Given the description of an element on the screen output the (x, y) to click on. 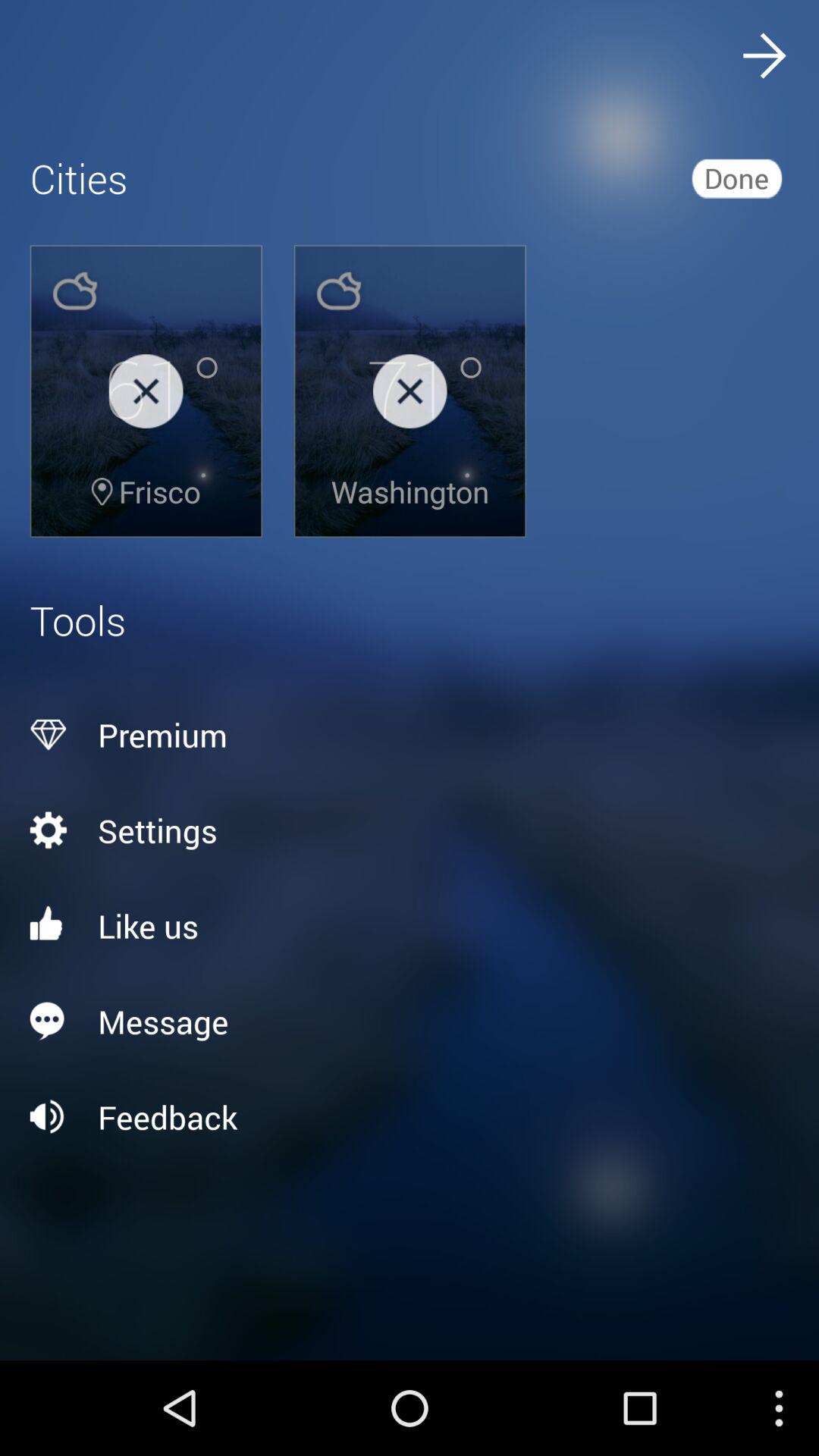
flip until the premium icon (409, 734)
